Given the description of an element on the screen output the (x, y) to click on. 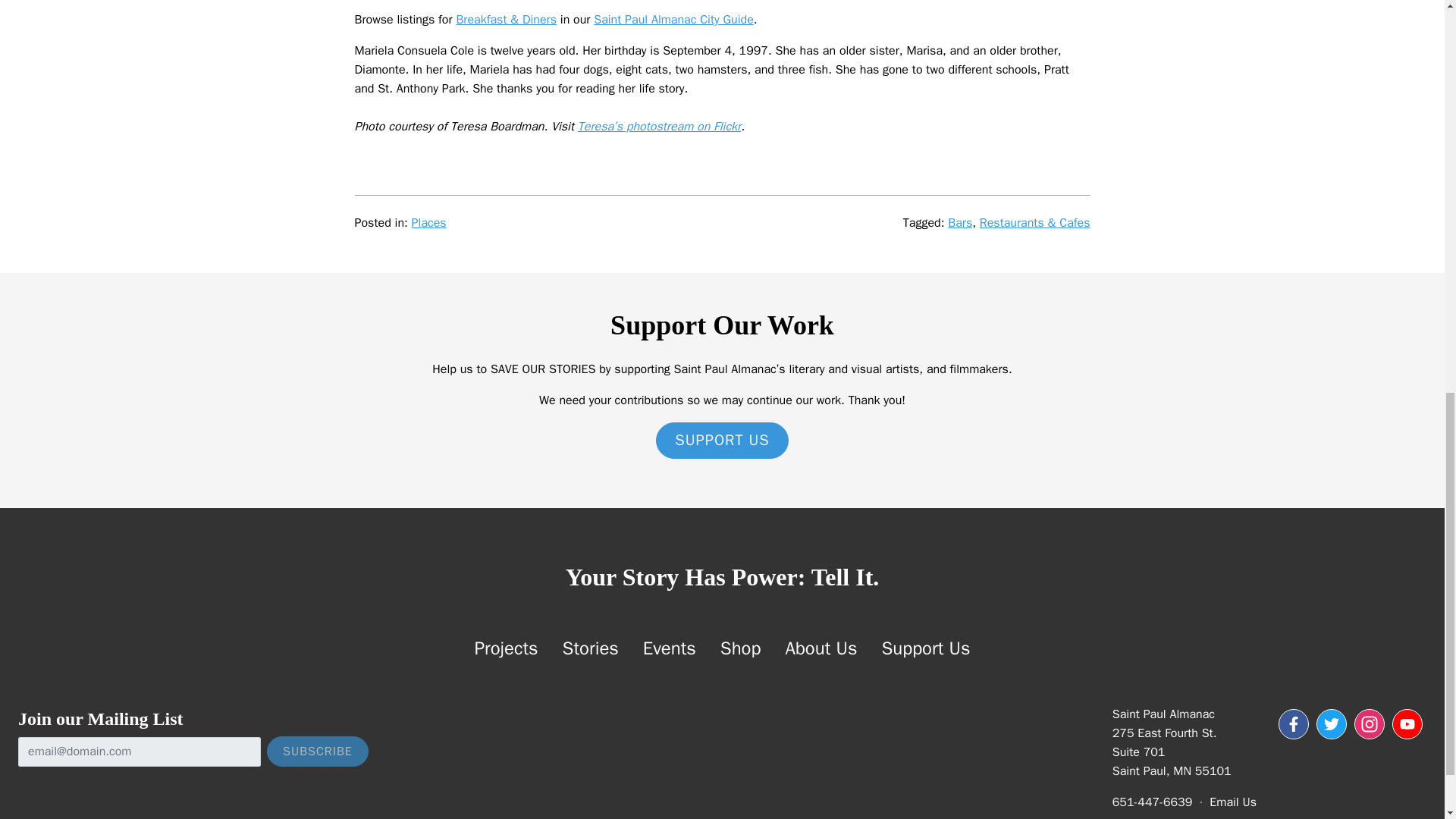
Saint Paul Almanac City Guide (674, 19)
Bars (959, 222)
Subscribe (317, 751)
Places (429, 222)
